Given the description of an element on the screen output the (x, y) to click on. 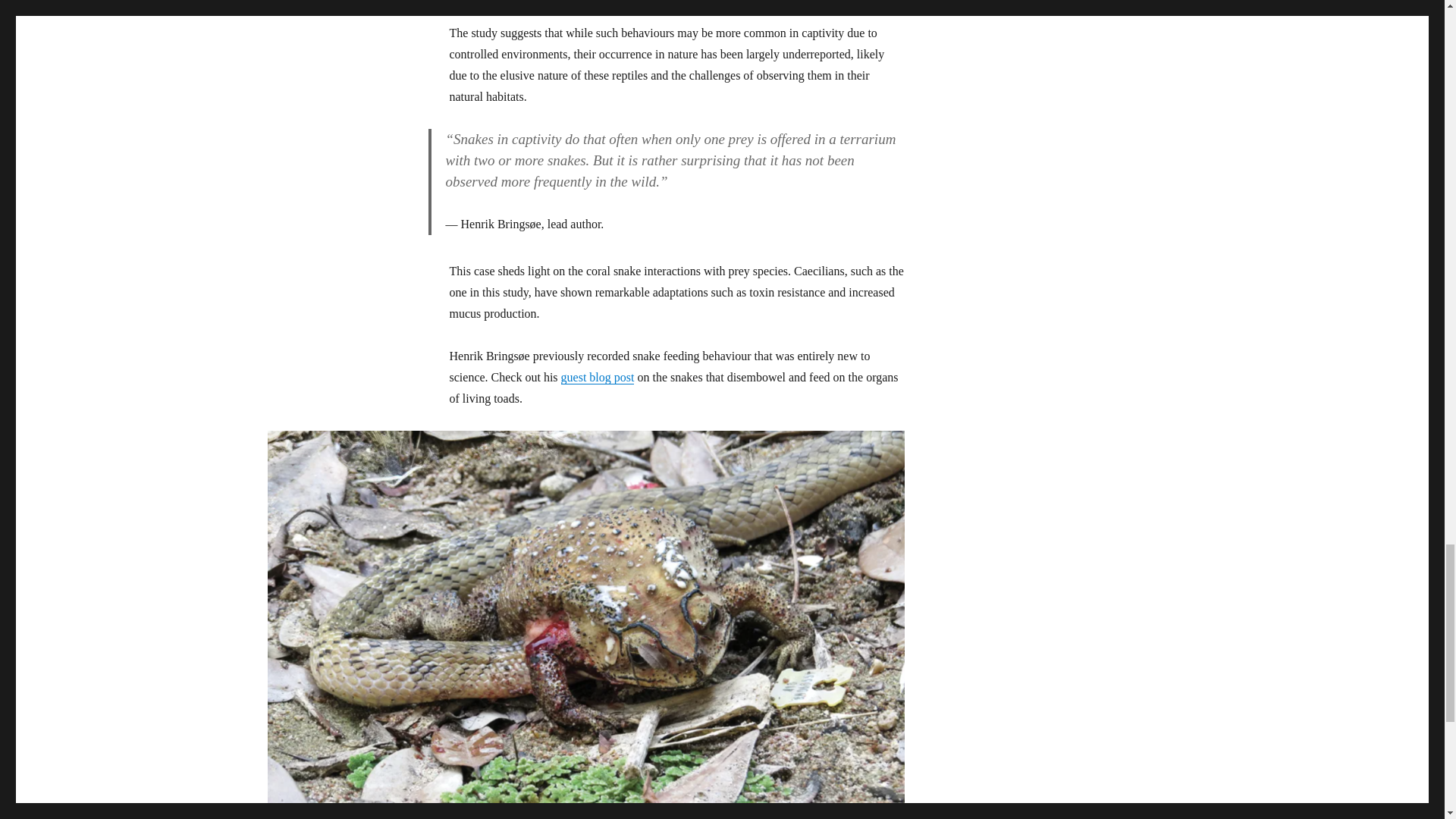
guest blog post (597, 377)
guest blog post (597, 377)
